Given the description of an element on the screen output the (x, y) to click on. 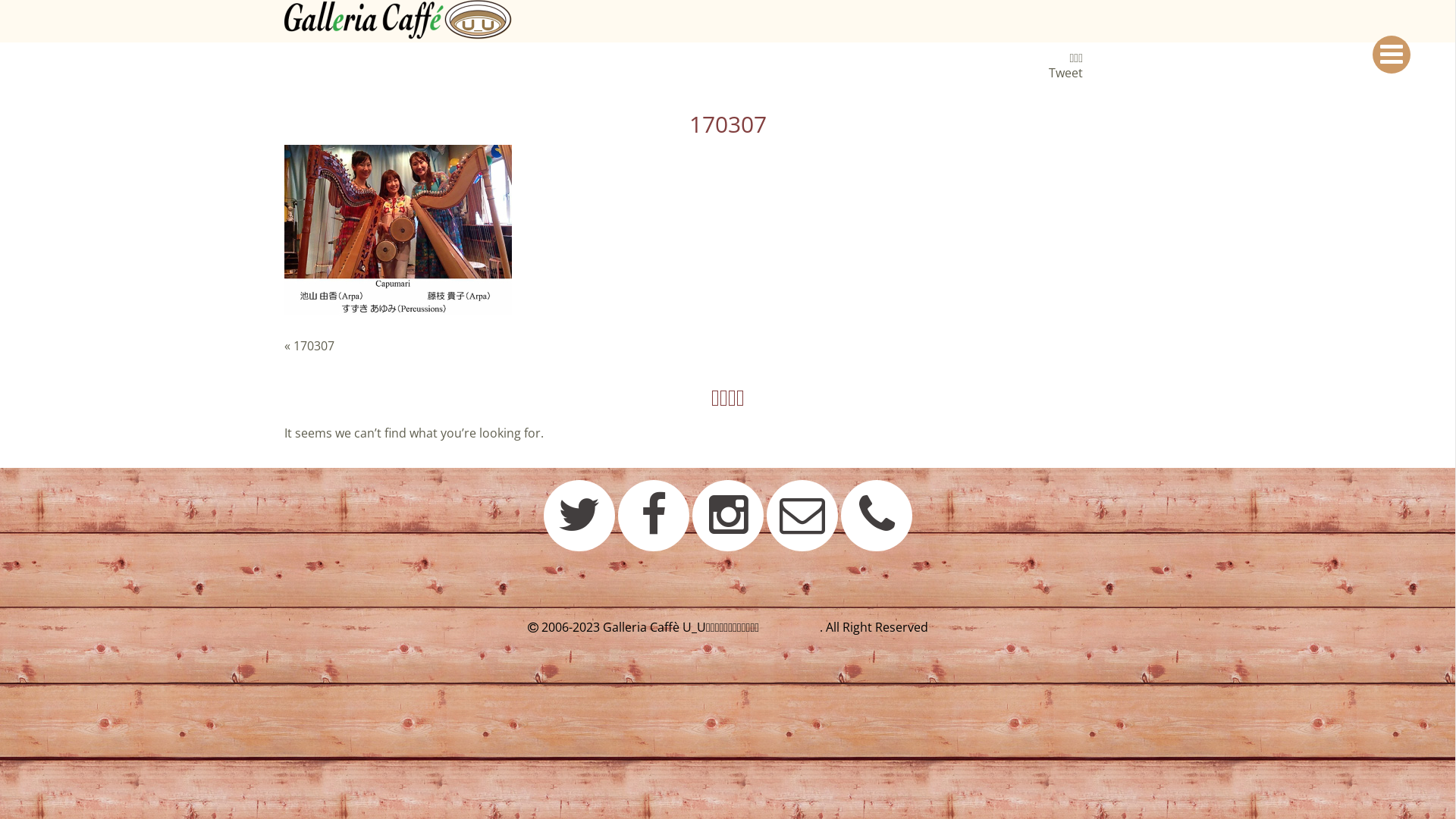
Tweet Element type: text (1065, 72)
170307 Element type: text (313, 345)
